Given the description of an element on the screen output the (x, y) to click on. 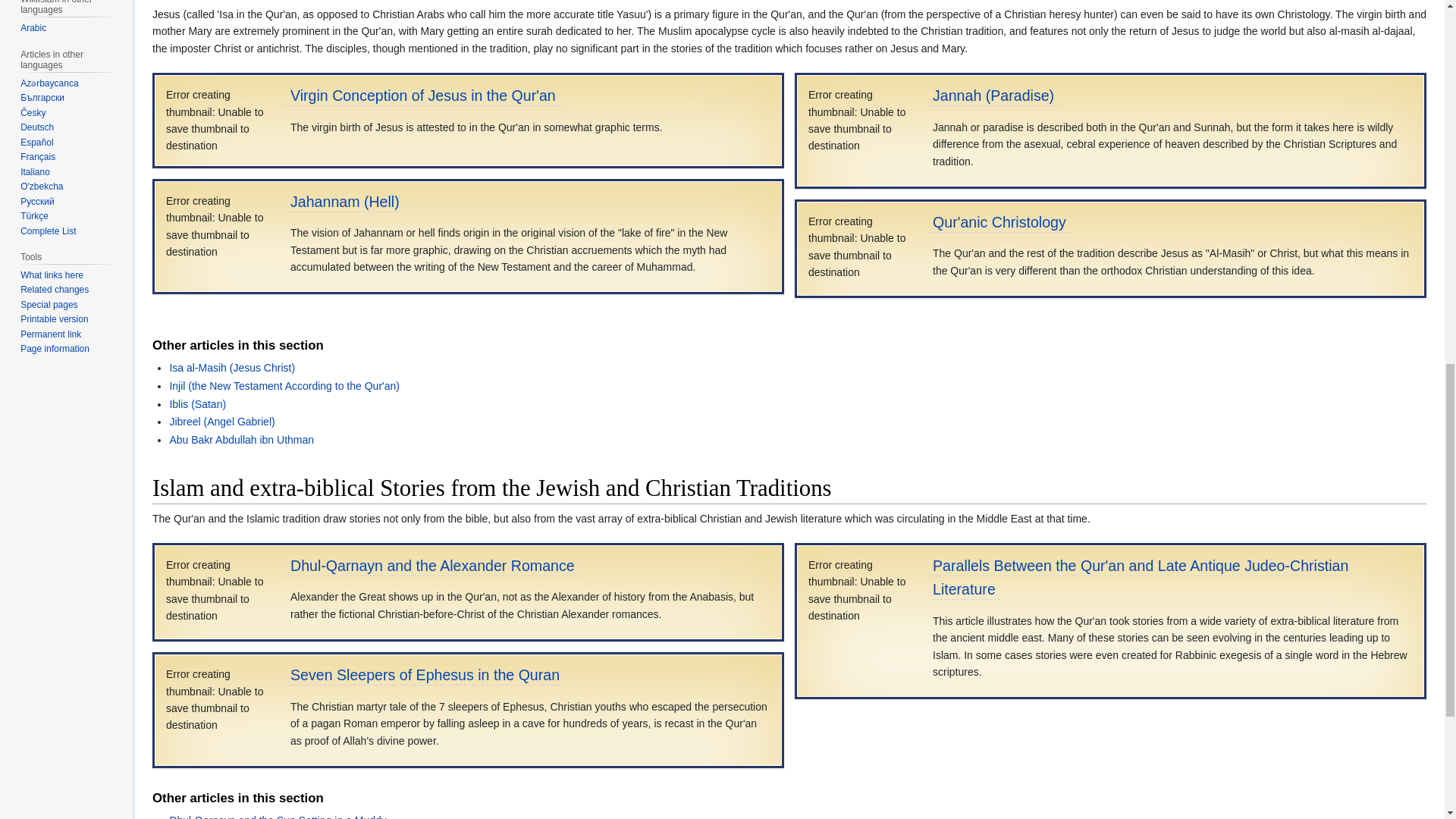
Virgin Conception of Jesus in the Qur'an (422, 95)
Qur'anic Christology (999, 221)
Qur'anic Christology (999, 221)
Virgin Conception of Jesus in the Qur'an (422, 95)
Dhul-Qarnayn and the Alexander Romance (432, 565)
Seven Sleepers of Ephesus in the Quran (424, 674)
Abu Bakr Abdullah ibn Uthman (241, 439)
